Given the description of an element on the screen output the (x, y) to click on. 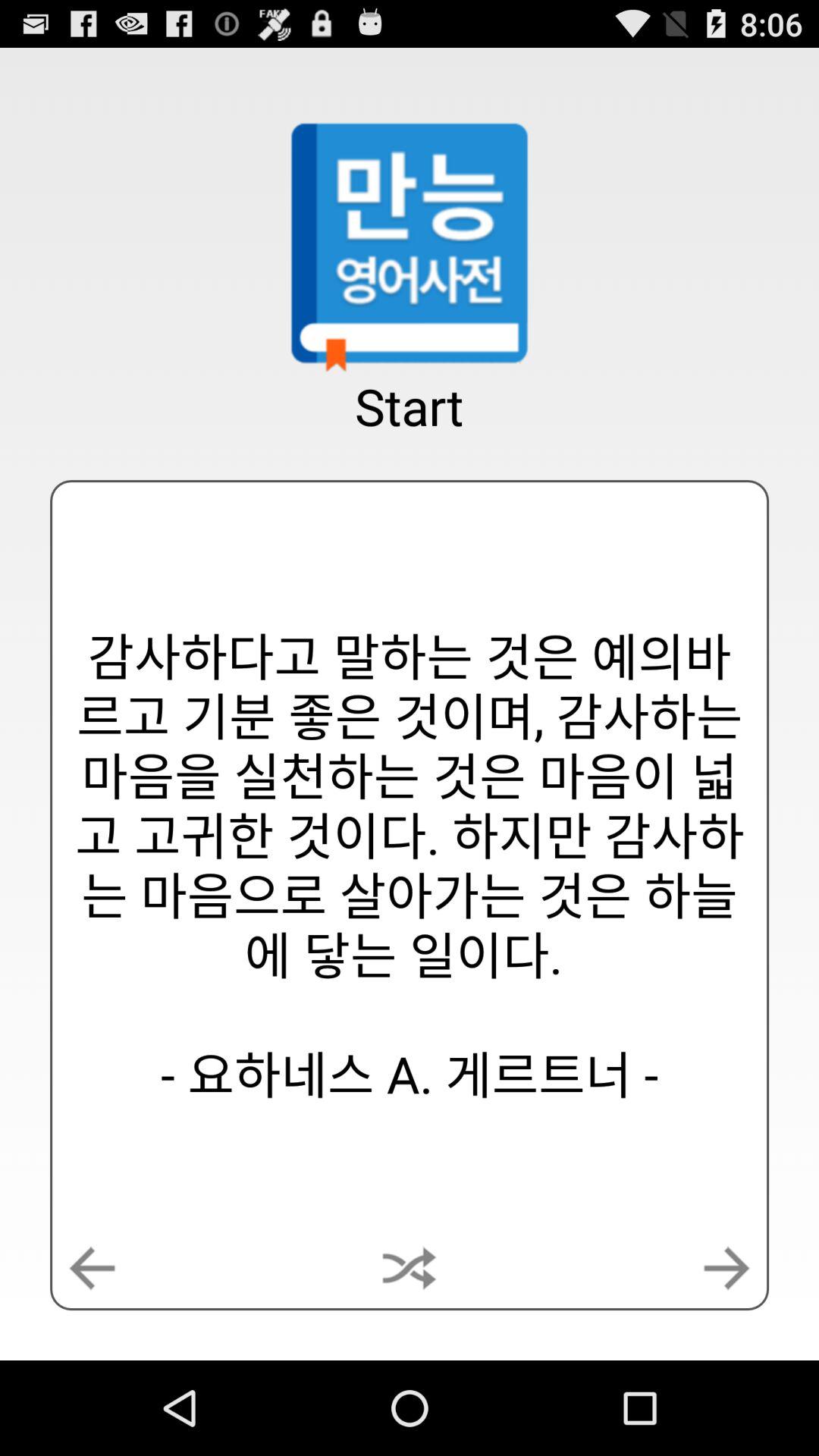
turn off the item at the bottom (409, 1268)
